Given the description of an element on the screen output the (x, y) to click on. 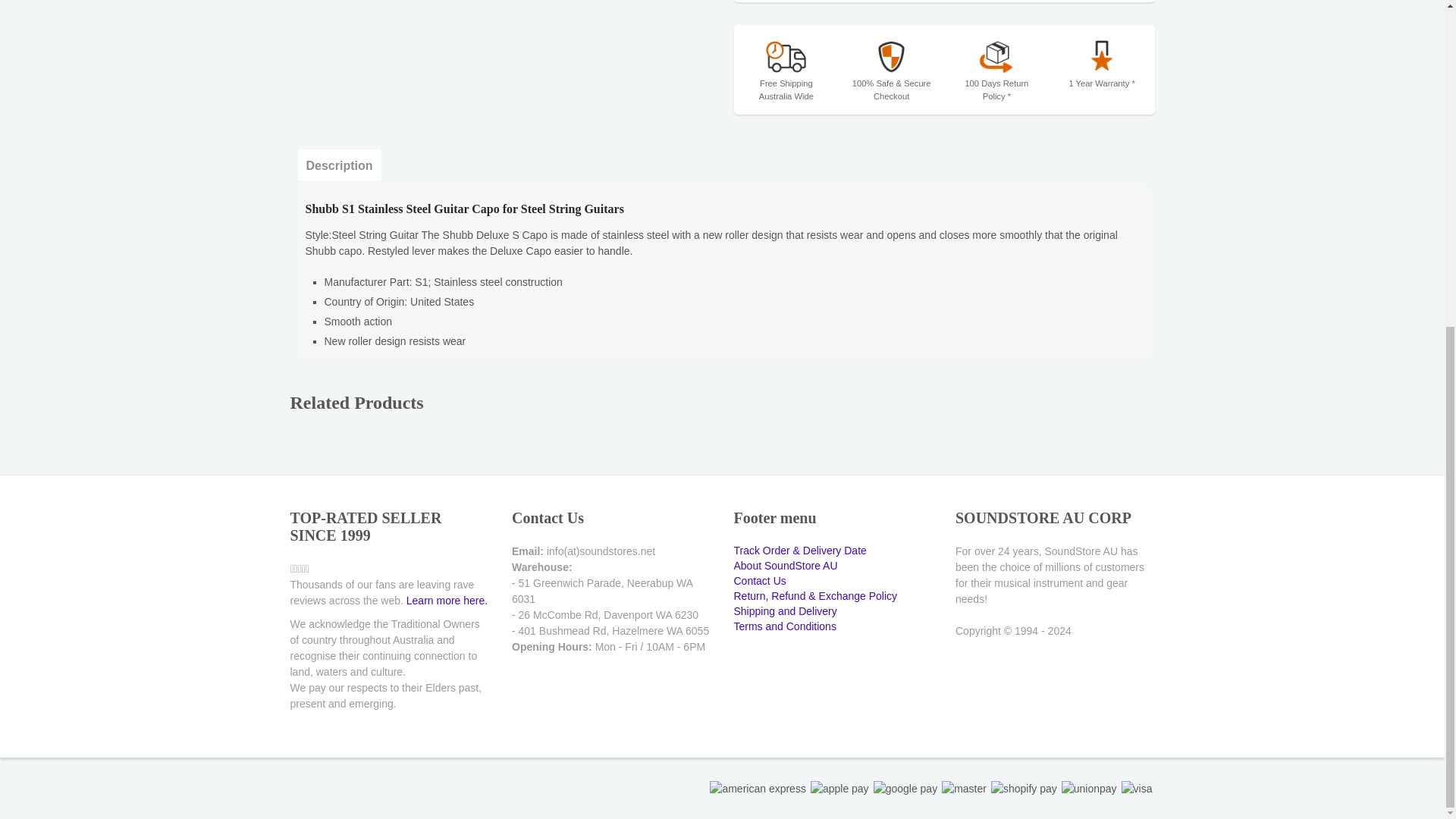
Description (338, 164)
